Given the description of an element on the screen output the (x, y) to click on. 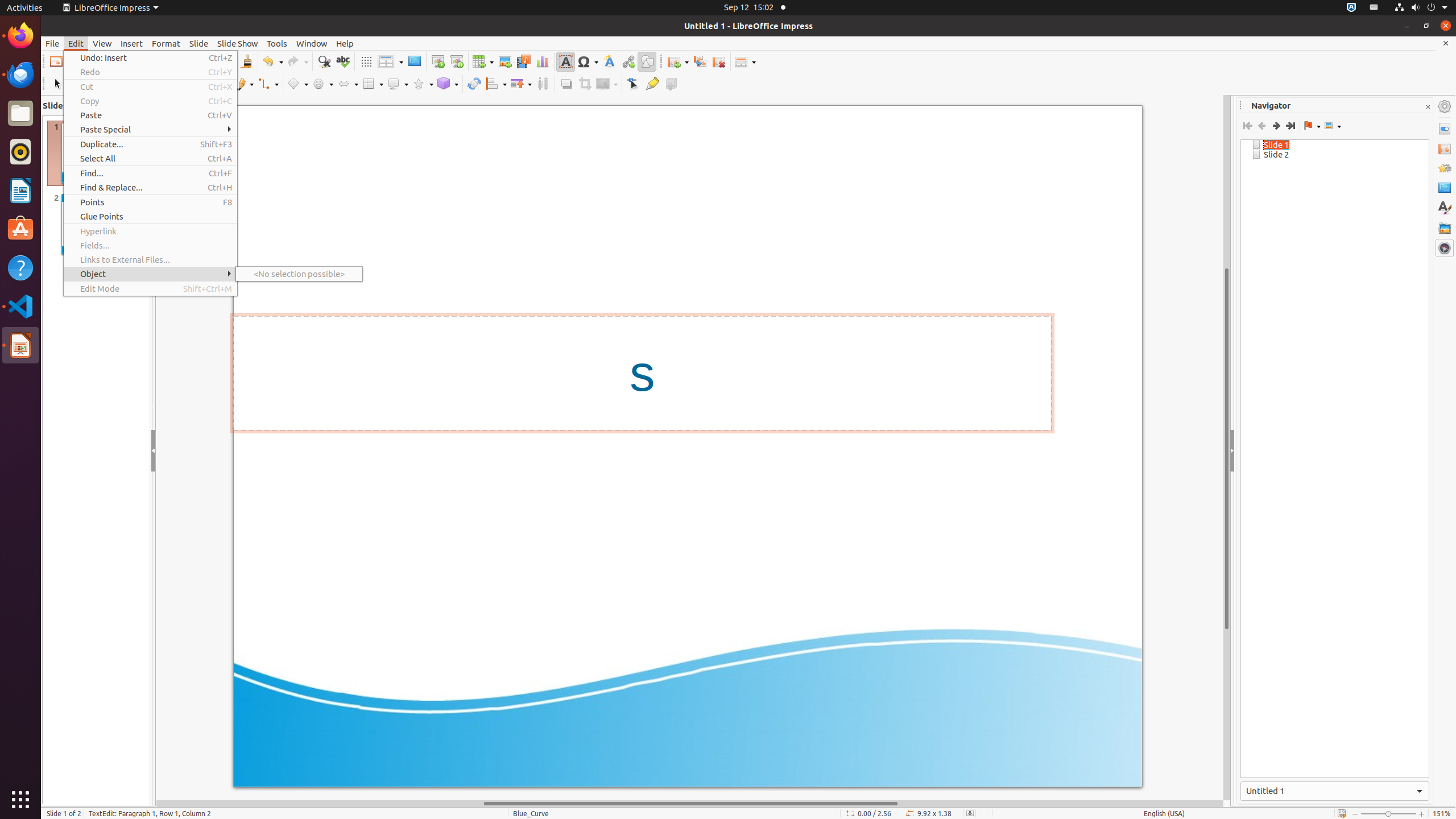
Next Slide Element type: push-button (1275, 125)
Vertical scroll bar Element type: scroll-bar (1226, 447)
Slide Element type: menu (198, 43)
File Element type: menu (51, 43)
Paste Special Element type: menu (150, 129)
